Given the description of an element on the screen output the (x, y) to click on. 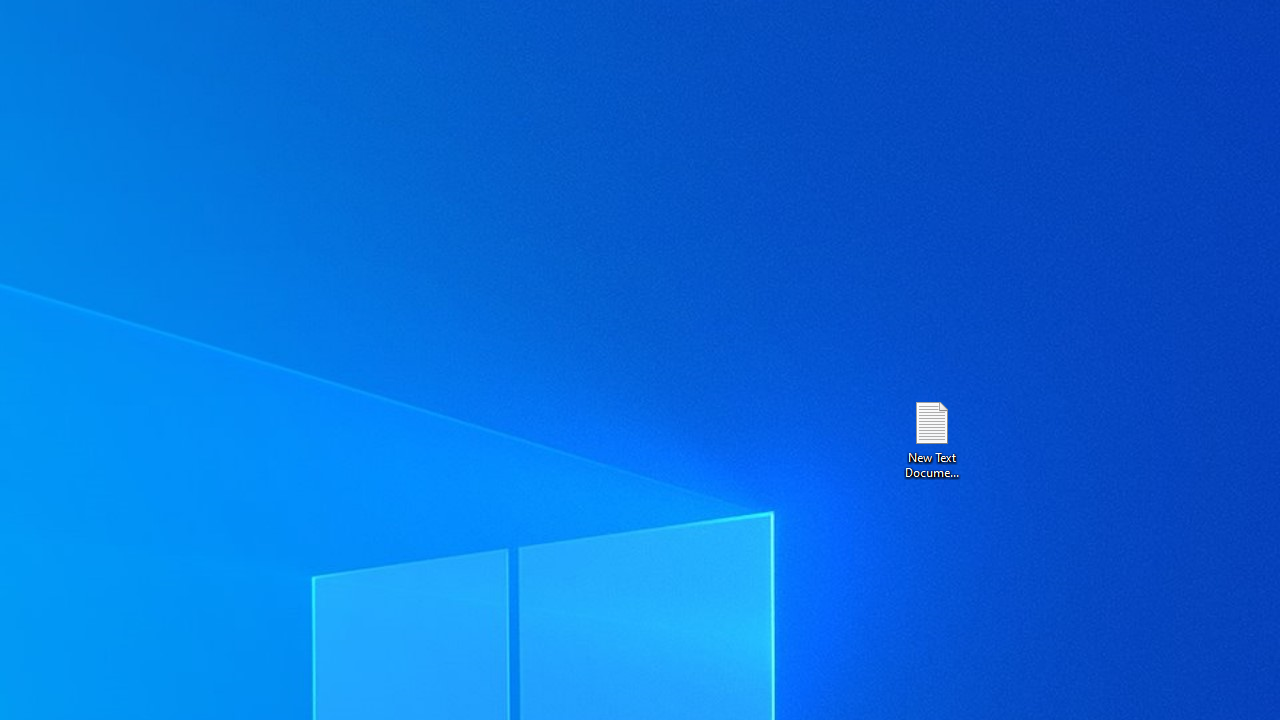
New Text Document (2) (931, 438)
